Given the description of an element on the screen output the (x, y) to click on. 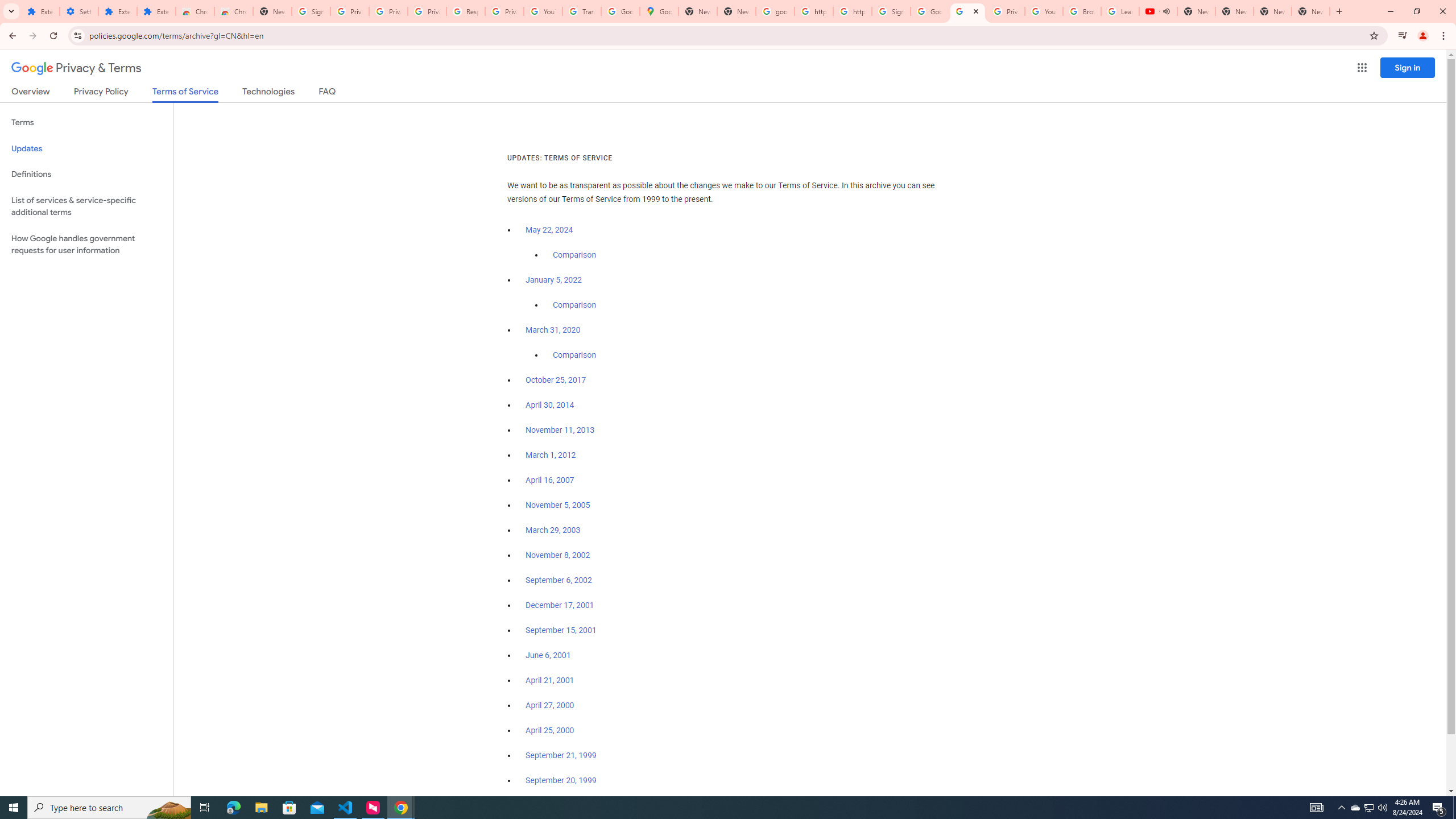
List of services & service-specific additional terms (86, 206)
Privacy & Terms (76, 68)
https://scholar.google.com/ (852, 11)
https://scholar.google.com/ (813, 11)
November 8, 2002 (557, 555)
Google Maps (659, 11)
Technologies (268, 93)
Control your music, videos, and more (1402, 35)
September 15, 2001 (560, 629)
